Given the description of an element on the screen output the (x, y) to click on. 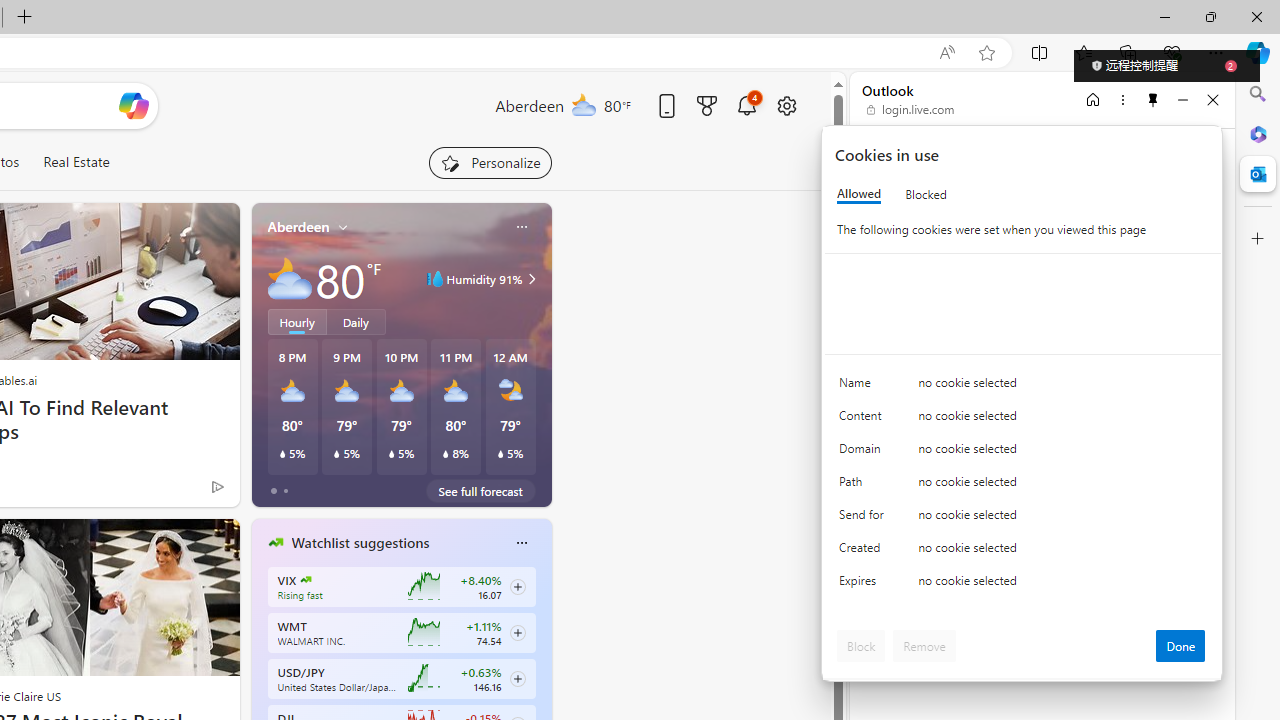
no cookie selected (1062, 585)
Created (864, 552)
Humidity 91% (529, 278)
tab-1 (285, 490)
Blocked (925, 193)
tab-0 (273, 490)
Domain (864, 452)
